Given the description of an element on the screen output the (x, y) to click on. 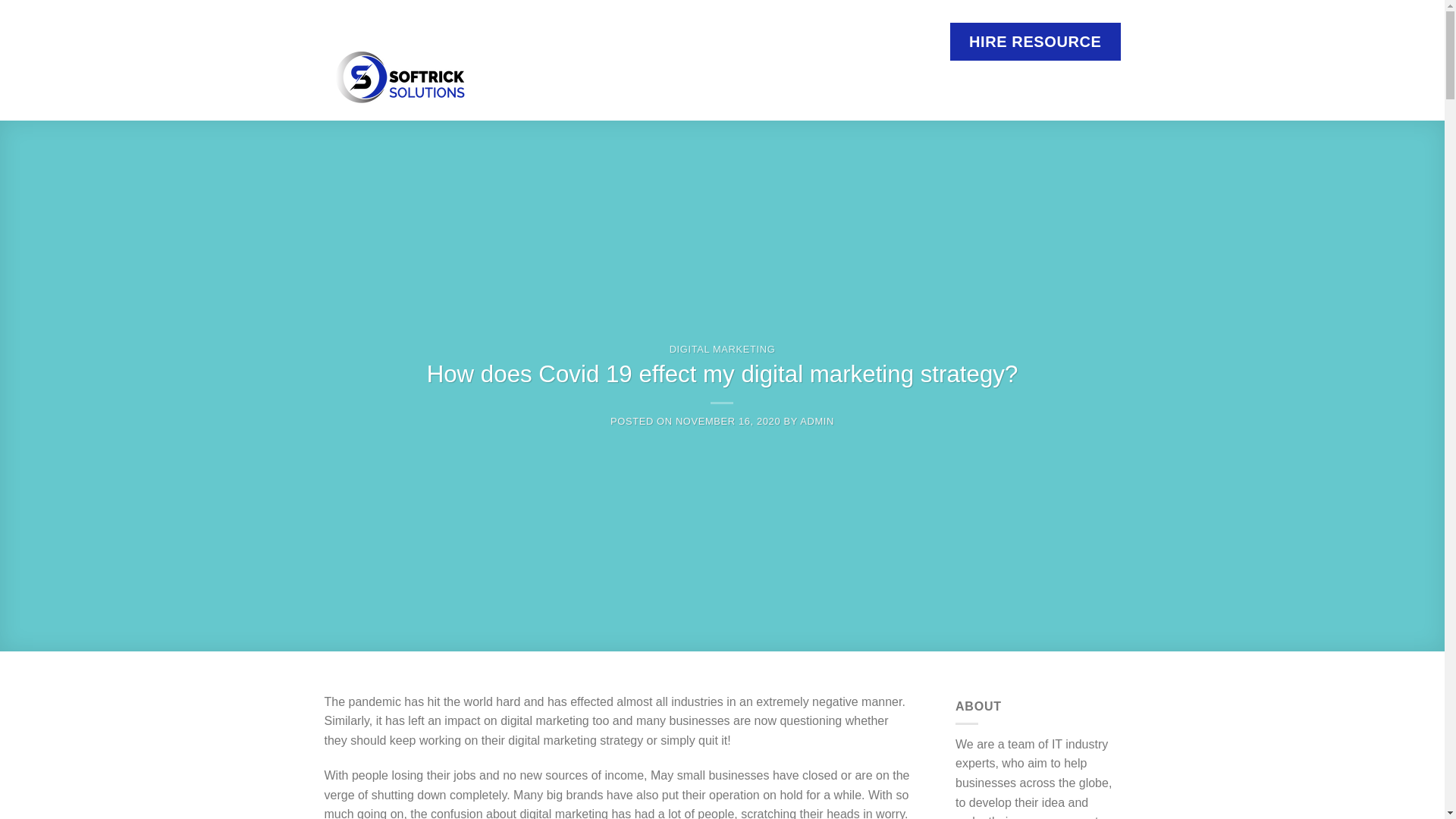
HIRE RESOURCE (1035, 41)
Home (586, 87)
Home (586, 87)
HIRE RESOURCE (1035, 41)
Services (666, 87)
